Given the description of an element on the screen output the (x, y) to click on. 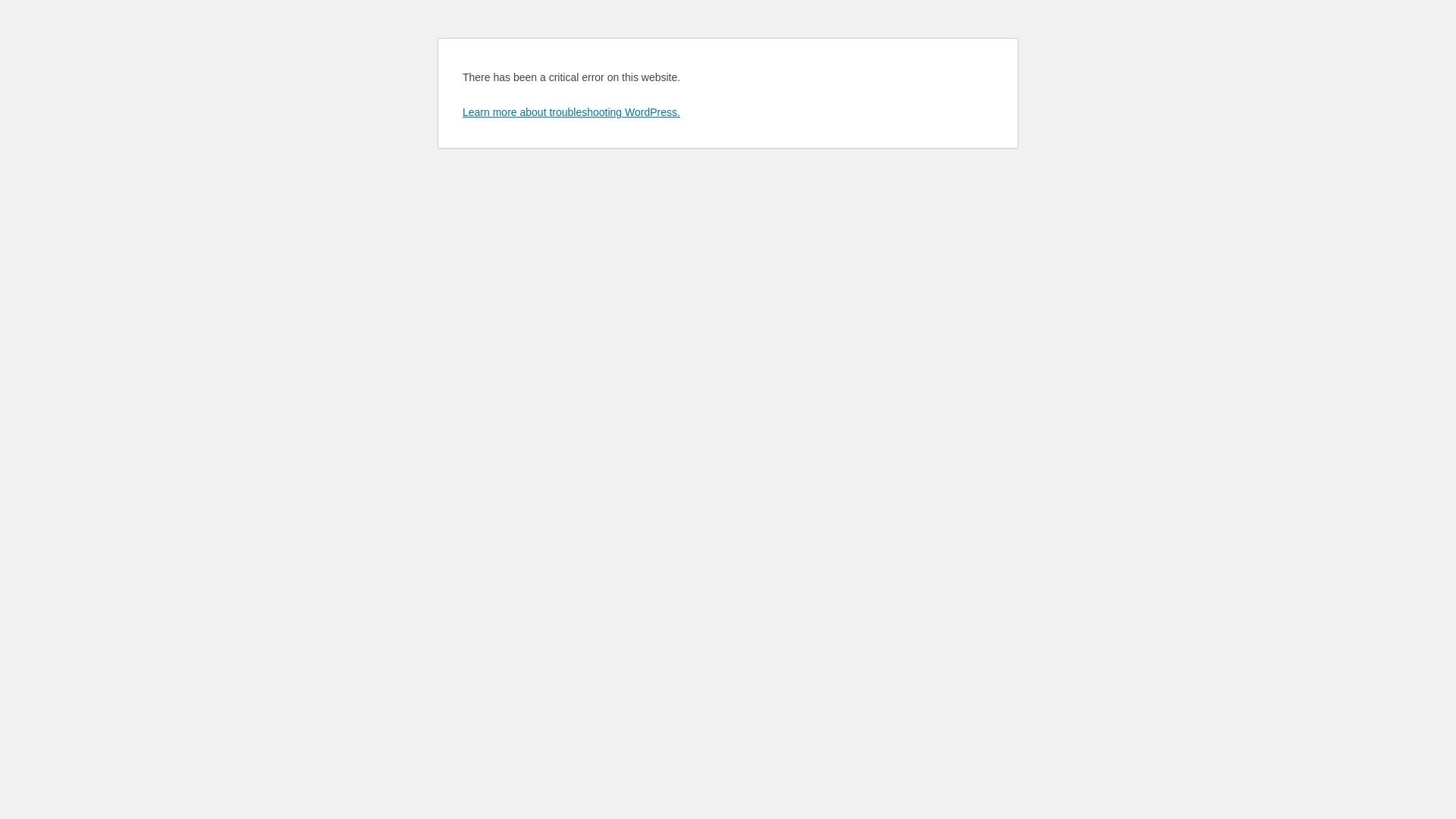
Learn more about troubleshooting WordPress. Element type: text (571, 112)
